Given the description of an element on the screen output the (x, y) to click on. 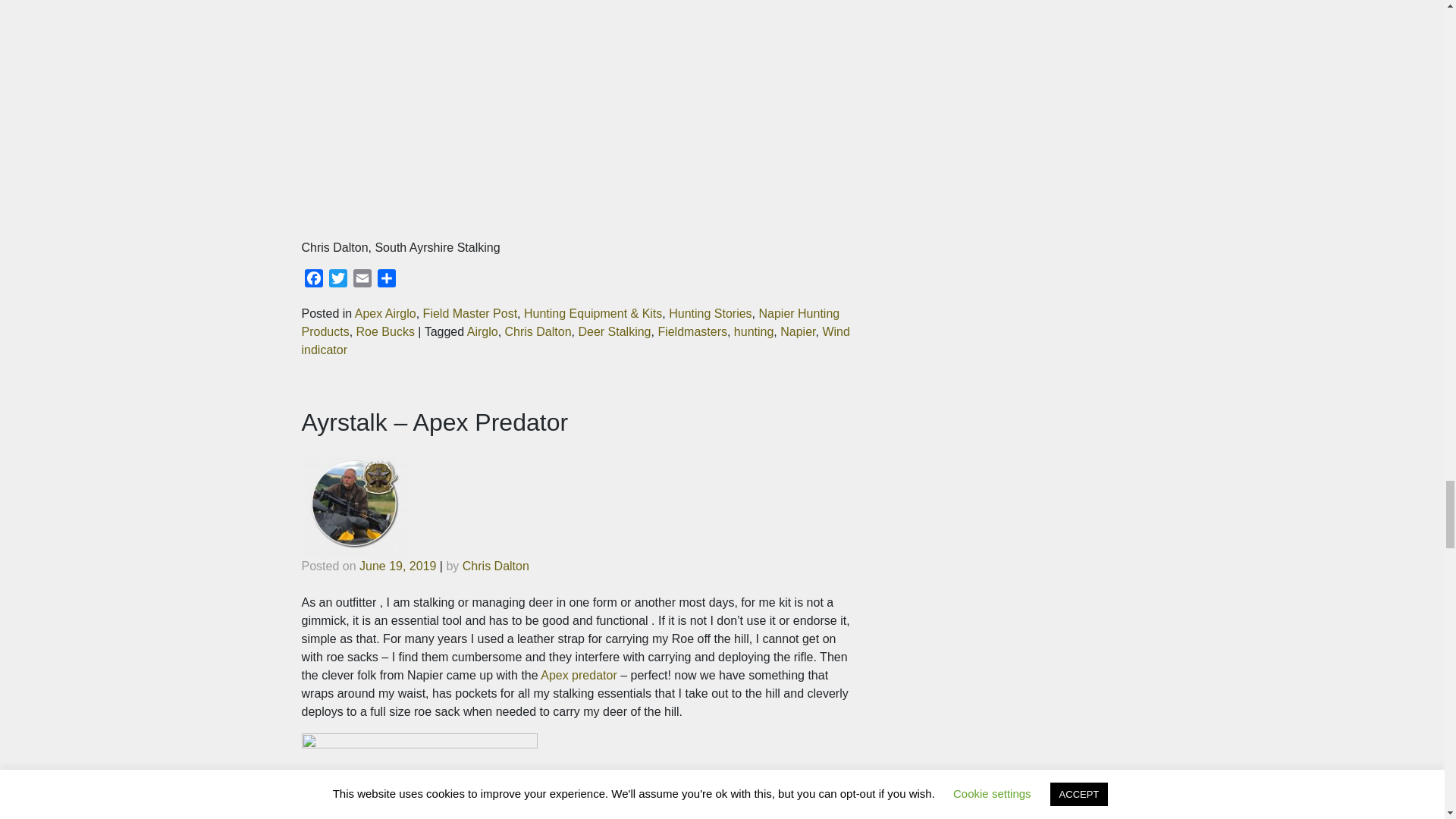
Email (362, 280)
Twitter (338, 280)
Facebook (313, 280)
